Given the description of an element on the screen output the (x, y) to click on. 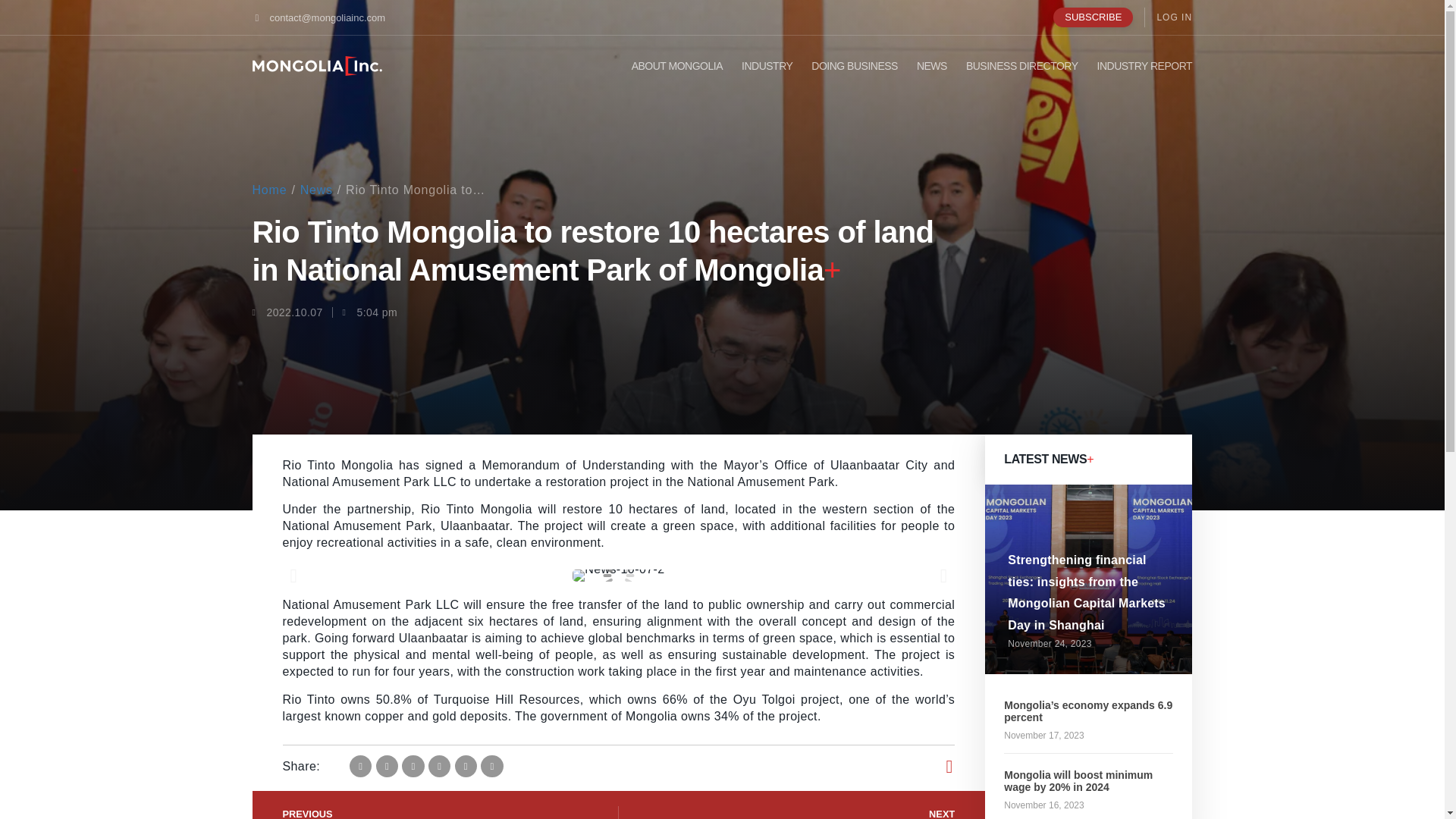
Category Name (316, 189)
ABOUT MONGOLIA (676, 66)
SUBSCRIBE (1092, 17)
